Given the description of an element on the screen output the (x, y) to click on. 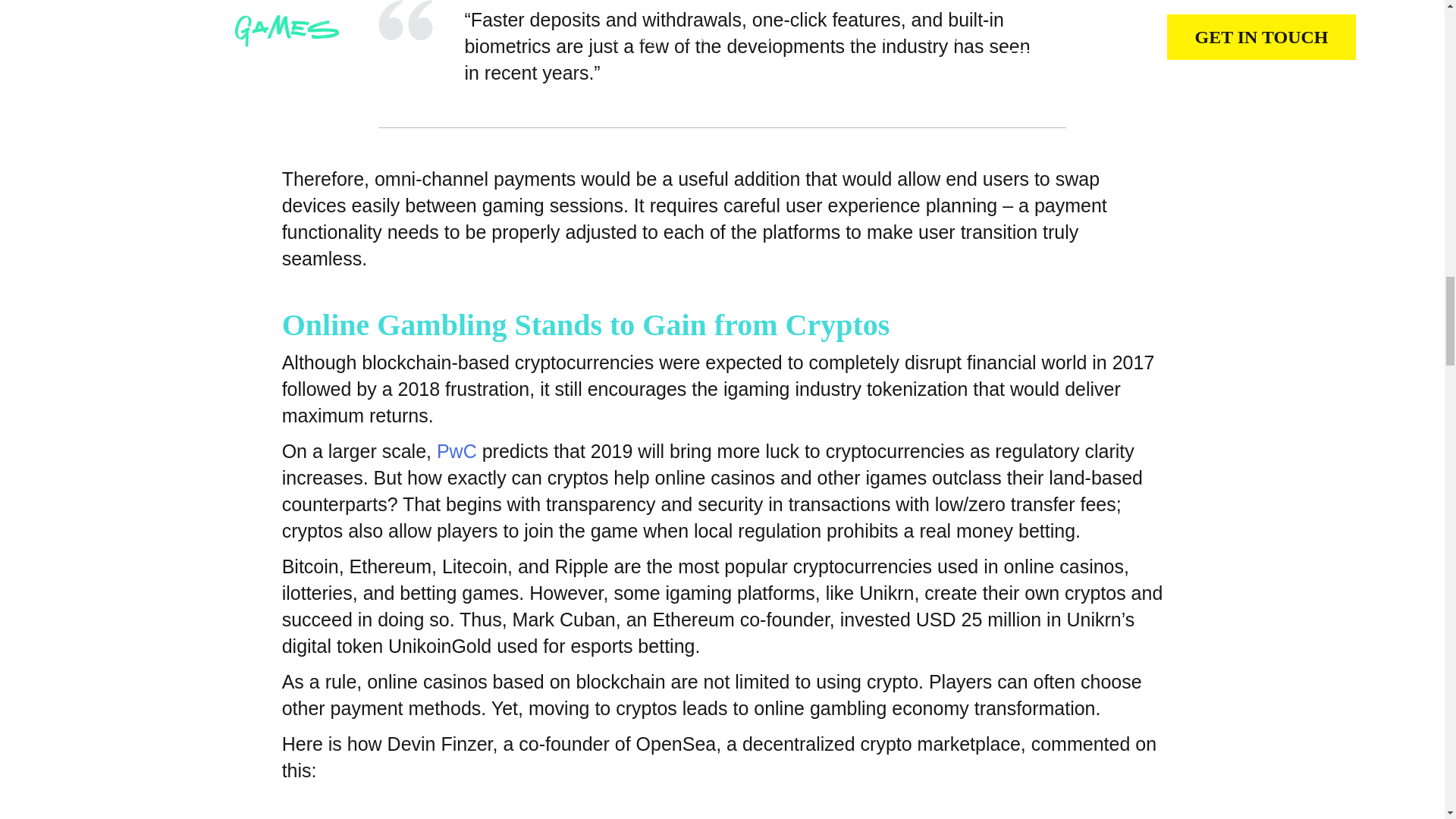
PwC (456, 450)
